Given the description of an element on the screen output the (x, y) to click on. 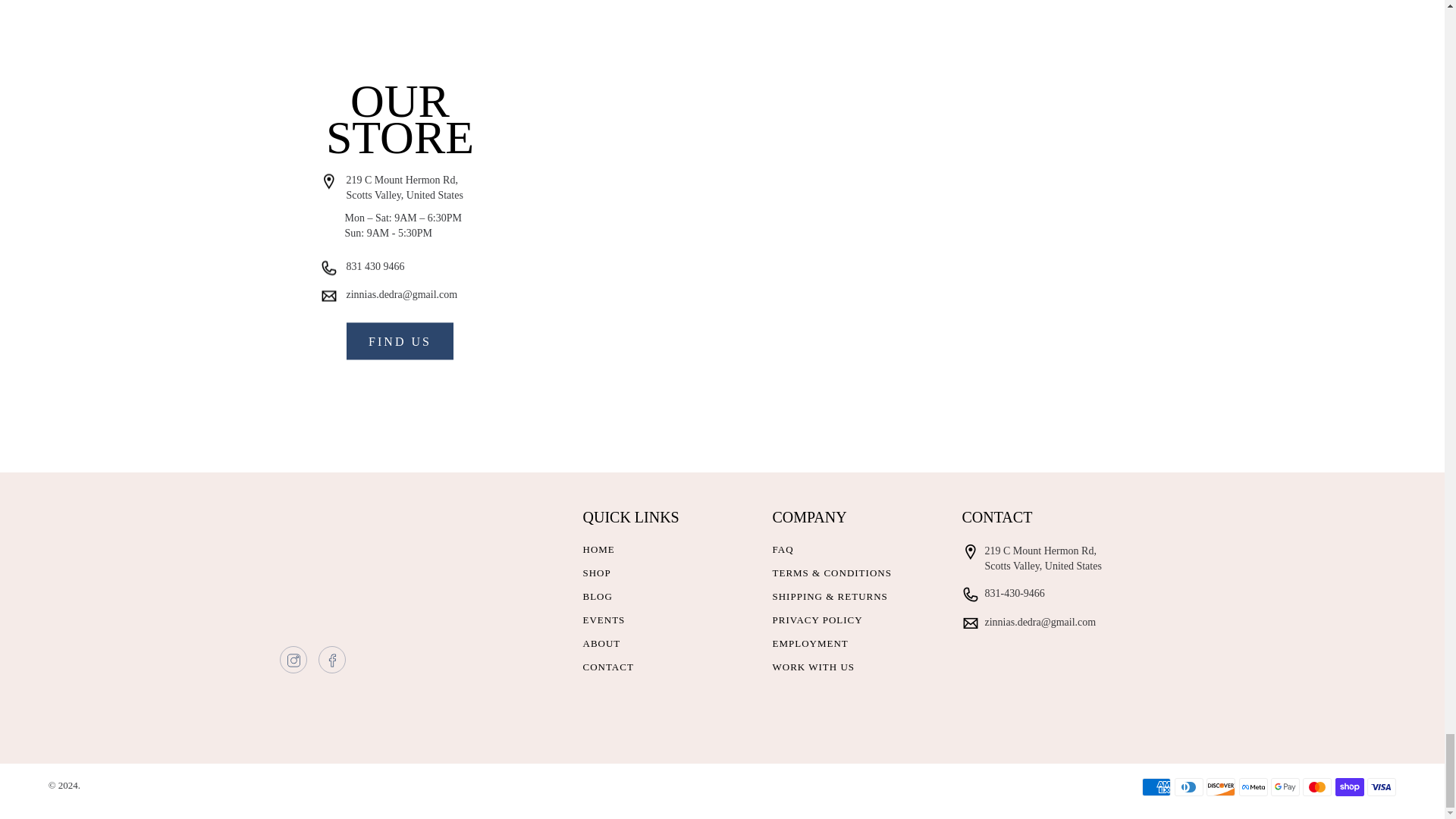
Zinnias Gift Boutique on Facebook (332, 663)
Zinnias Gift Boutique (357, 564)
Diners Club (1189, 787)
Mastercard (1317, 787)
Visa (1381, 787)
Google Pay (1285, 787)
Discover (1220, 787)
American Express (1155, 787)
Zinnias Gift Boutique on Instagram (294, 663)
Meta Pay (1253, 787)
Shop Pay (1349, 787)
